Given the description of an element on the screen output the (x, y) to click on. 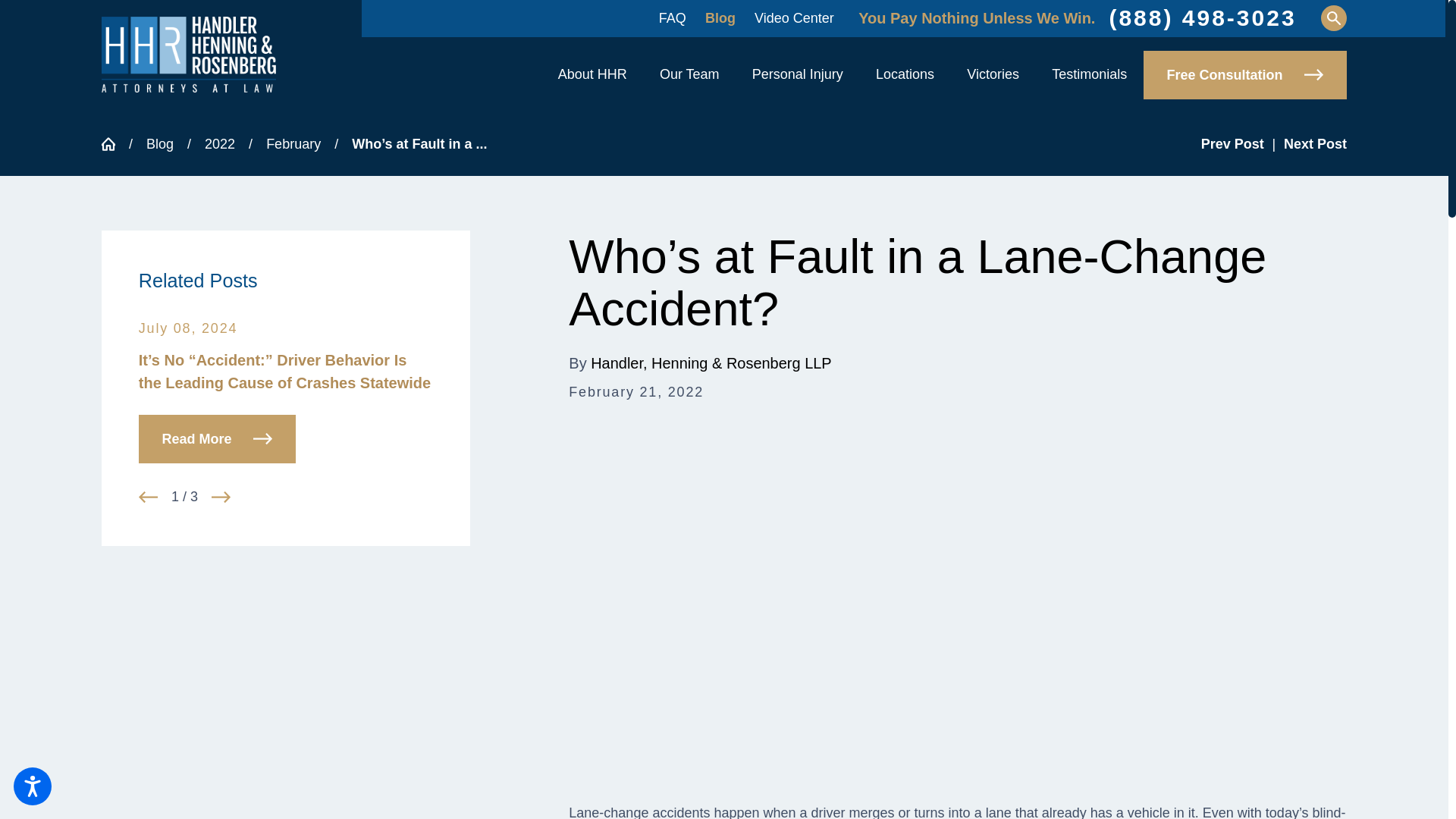
View next item (220, 496)
FAQ (672, 17)
Blog (719, 17)
Personal Injury (797, 75)
Search Our Site (1333, 17)
Video Center (794, 17)
About HHR (592, 75)
Go Home (115, 143)
Our Team (689, 75)
View previous item (147, 496)
